Given the description of an element on the screen output the (x, y) to click on. 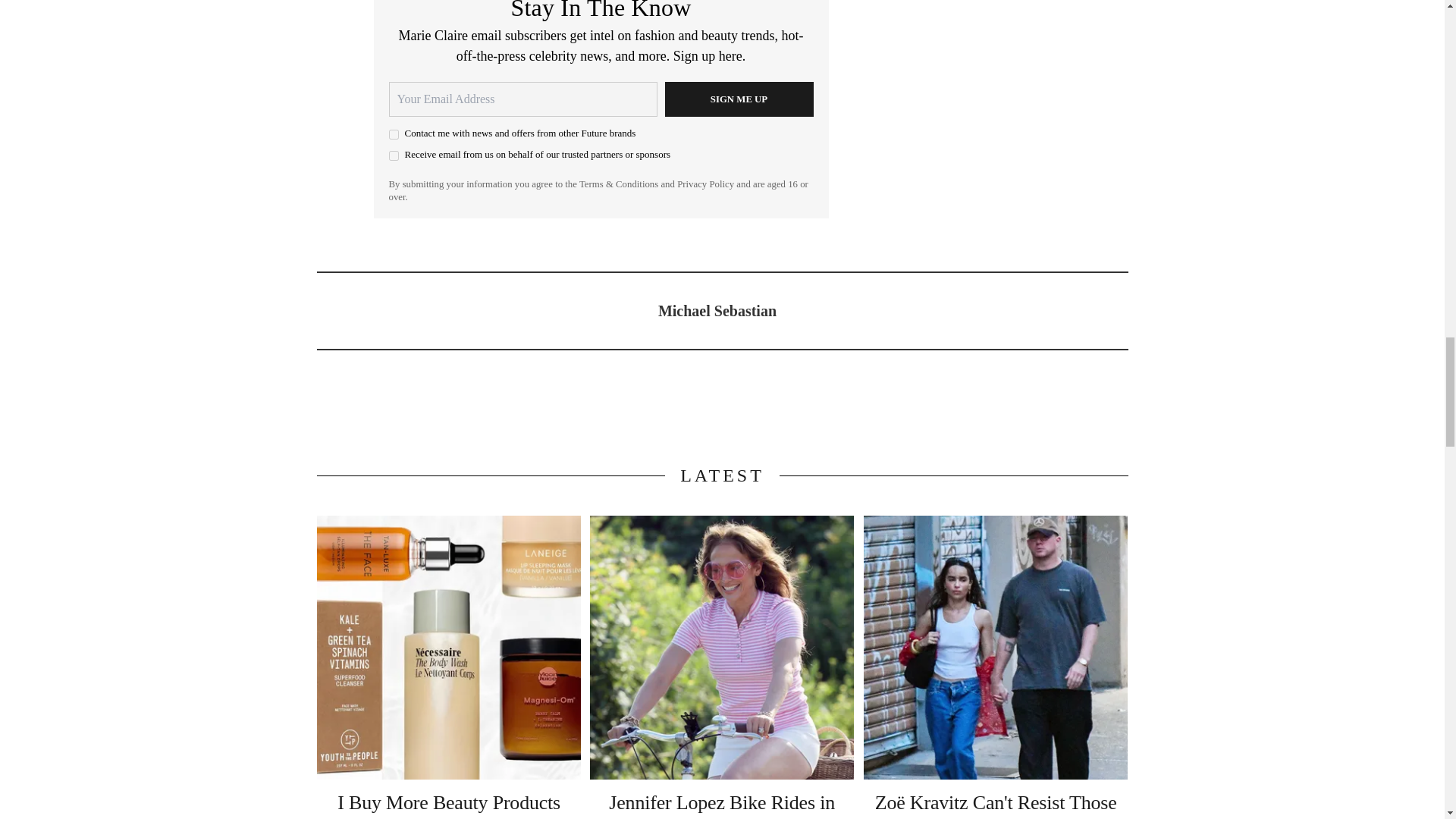
on (392, 134)
on (392, 155)
Sign me up (737, 99)
